Given the description of an element on the screen output the (x, y) to click on. 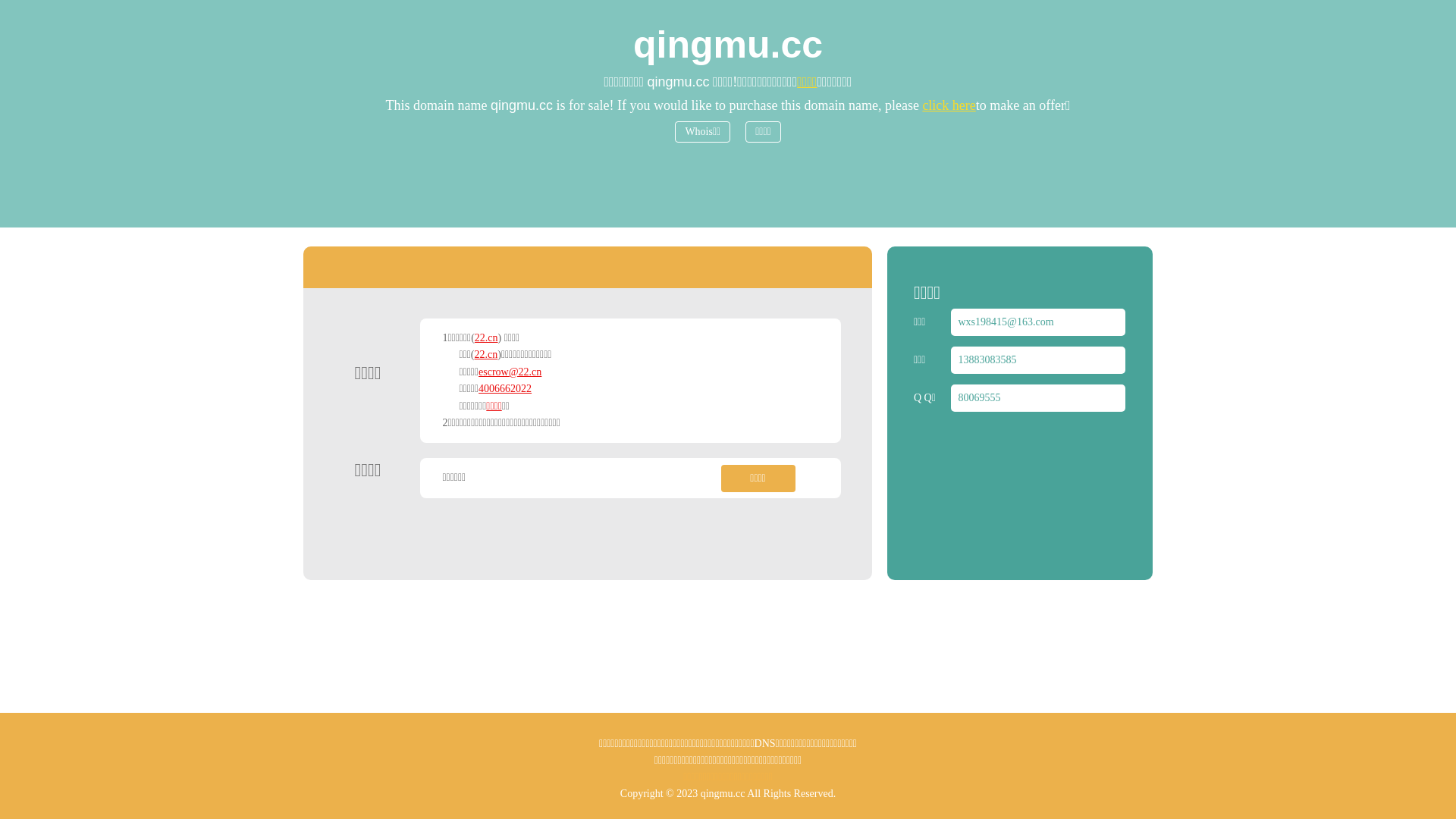
click here Element type: text (948, 104)
4006662022 Element type: text (504, 388)
22.cn Element type: text (486, 354)
escrow@22.cn Element type: text (509, 371)
22.cn Element type: text (486, 337)
